Given the description of an element on the screen output the (x, y) to click on. 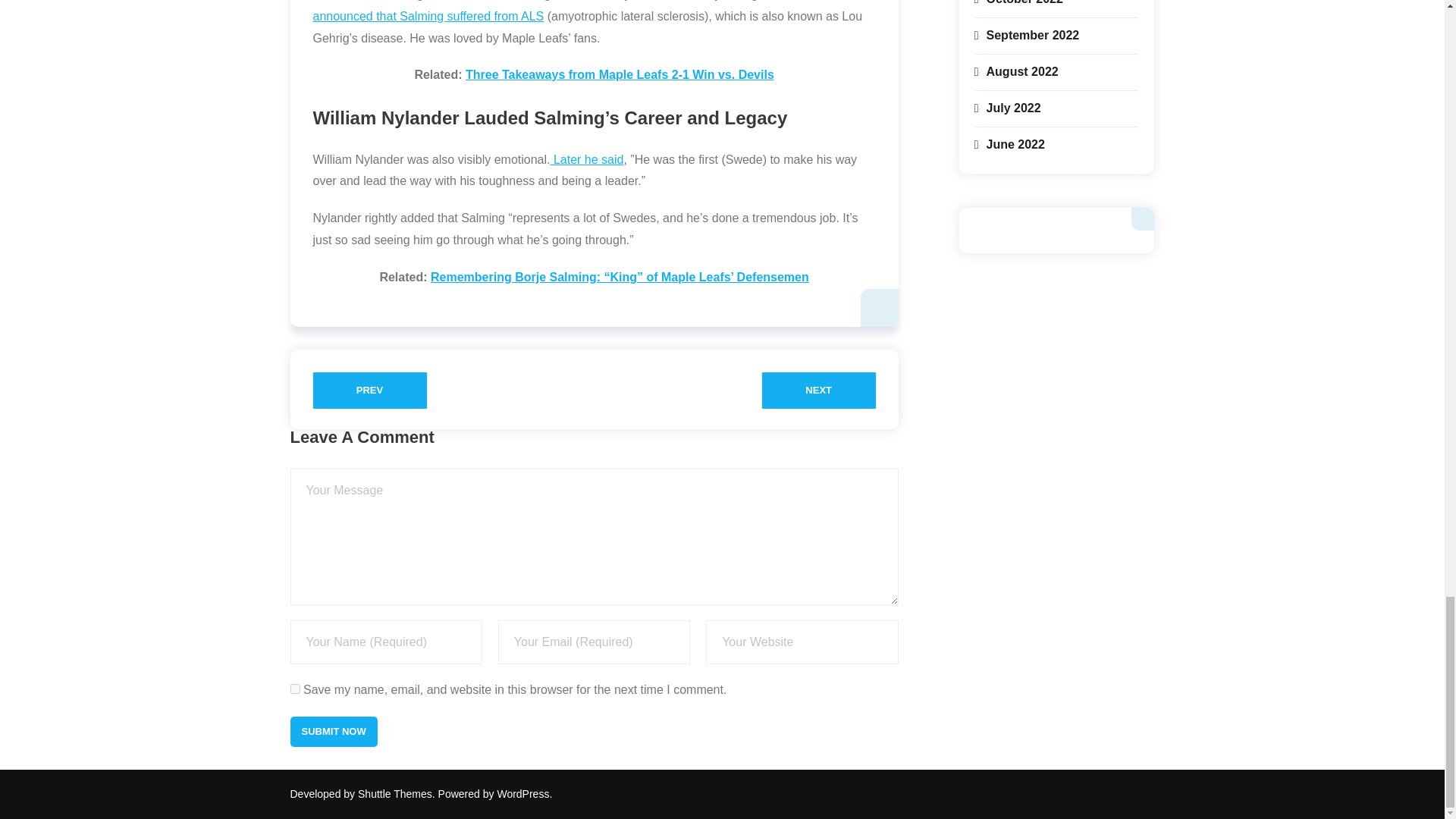
yes (294, 688)
NEXT (818, 390)
Three Takeaways from Maple Leafs 2-1 Win vs. Devils (619, 74)
Submit Now (333, 731)
PREV (369, 390)
Submit Now (333, 731)
it had been announced that Salming suffered from ALS (576, 11)
 Later he said (587, 159)
